Given the description of an element on the screen output the (x, y) to click on. 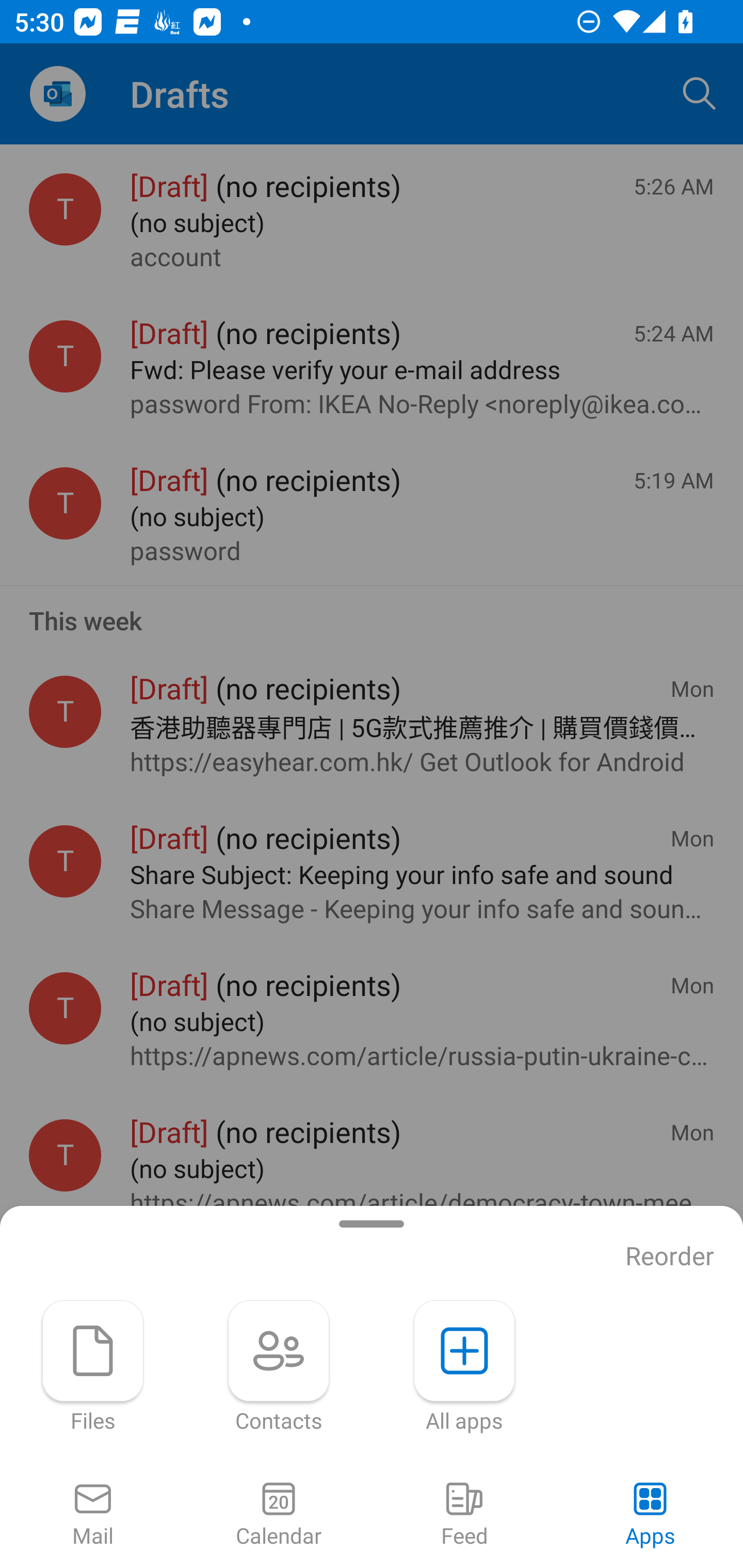
Reorder (669, 1256)
Files (92, 1366)
Contacts (278, 1366)
All apps (464, 1366)
Mail (92, 1515)
Calendar (278, 1515)
Feed (464, 1515)
